Given the description of an element on the screen output the (x, y) to click on. 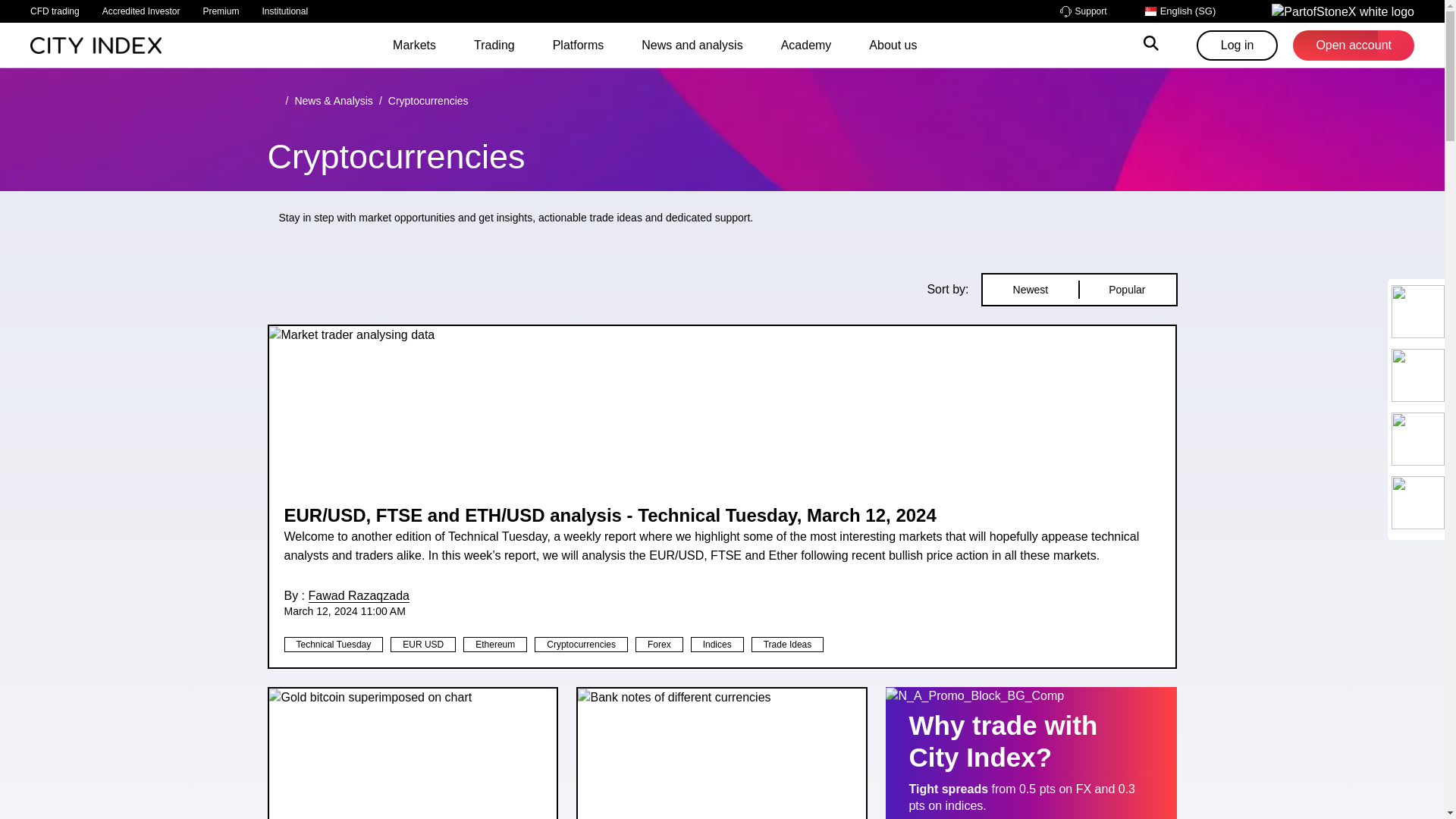
Accredited Investor (140, 11)
Home (95, 44)
CFD trading (55, 11)
Support (1082, 11)
News and Analysis (333, 101)
Home (273, 101)
Premium (220, 11)
Institutional (284, 11)
cryptocurrencies (428, 101)
search (1150, 45)
